Given the description of an element on the screen output the (x, y) to click on. 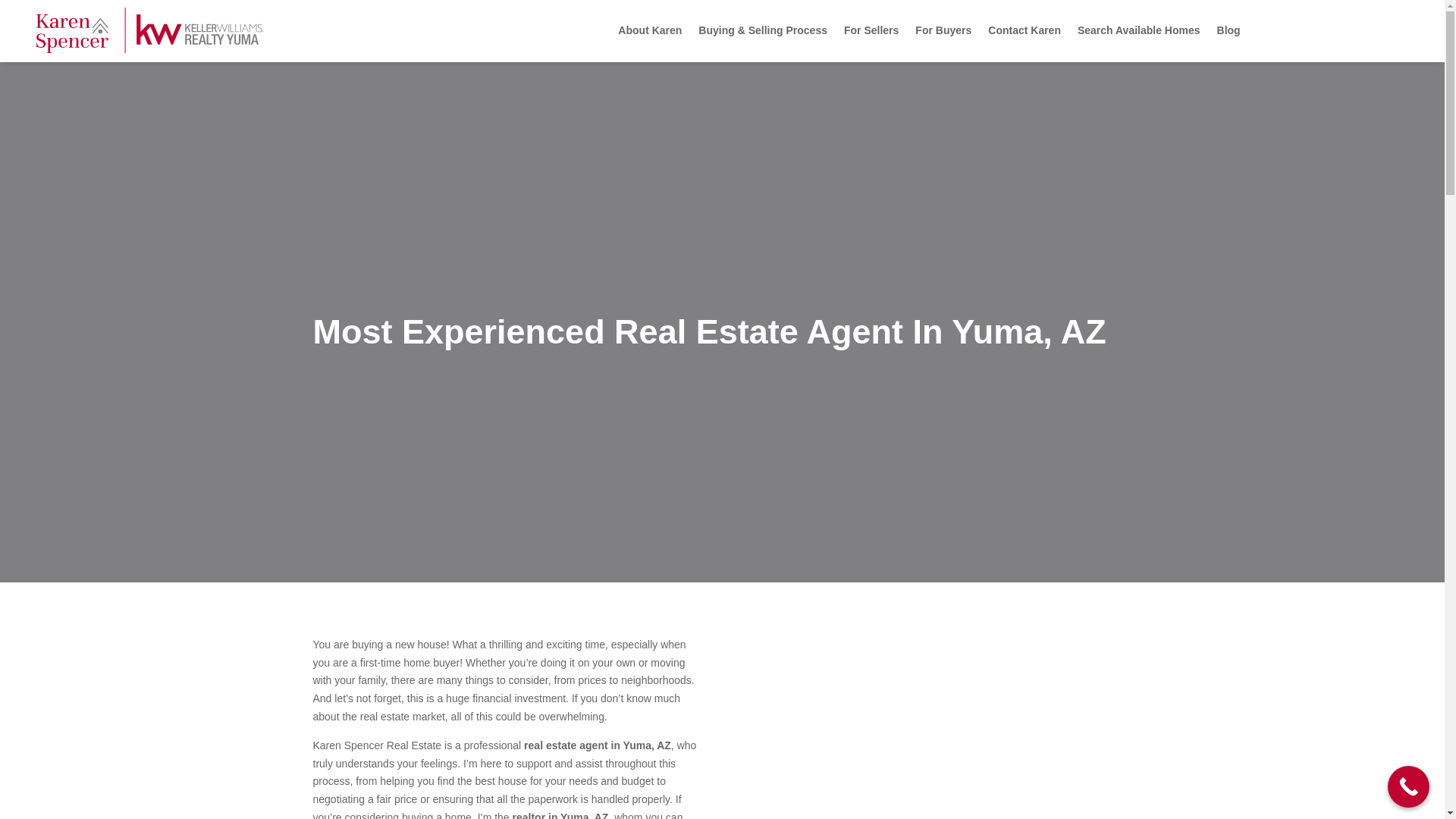
For Sellers (871, 29)
Contact Karen (1024, 29)
About Karen (649, 29)
Search Available Homes (1138, 29)
For Buyers (943, 29)
